Given the description of an element on the screen output the (x, y) to click on. 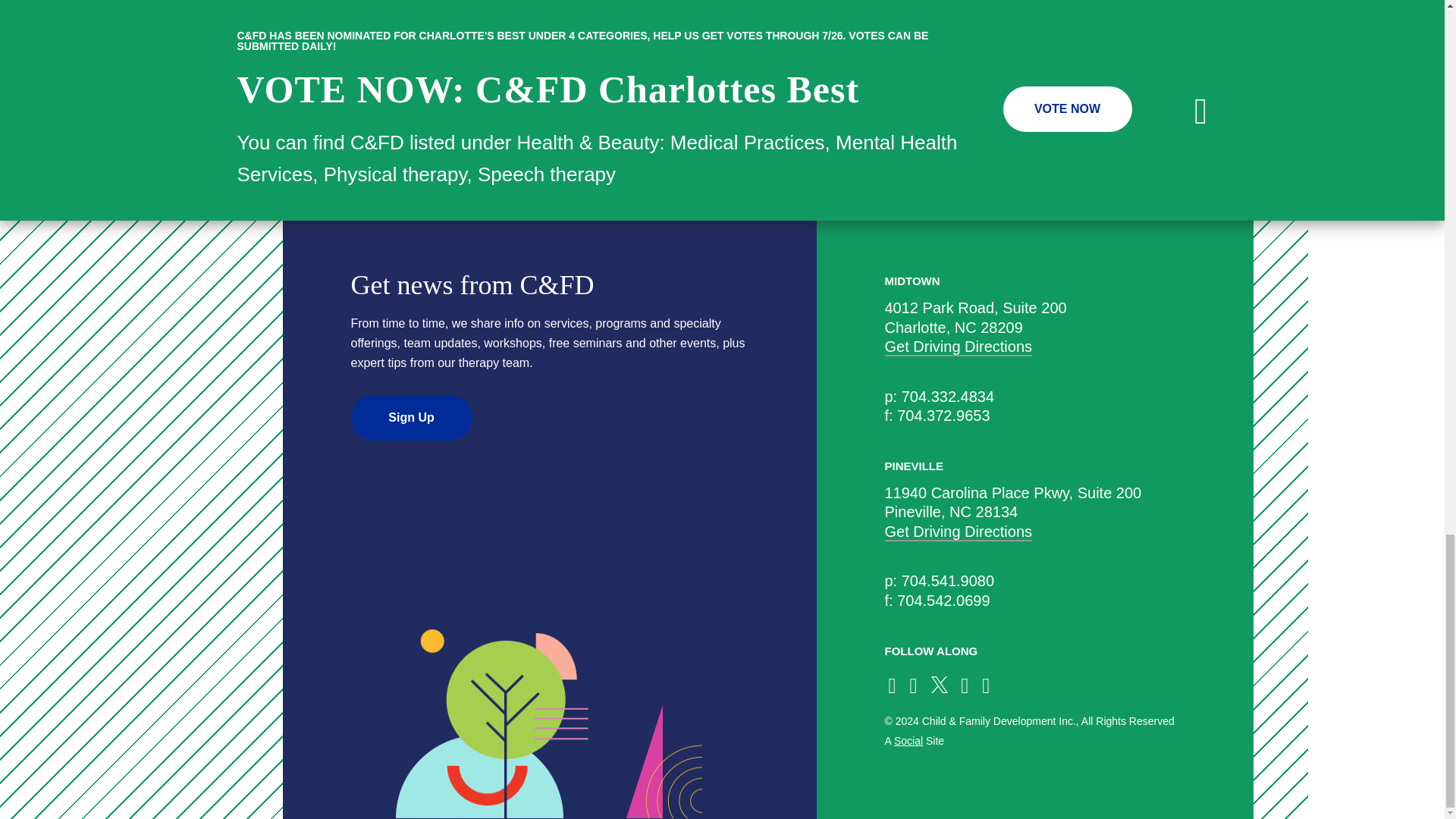
Sign Up (410, 417)
Share on Facebook (662, 8)
Get Driving Directions (957, 347)
p: 704.332.4834 (938, 396)
Get Driving Directions (957, 532)
Send email (780, 8)
f: 704.542.0699 (936, 600)
Tweet (692, 8)
f: 704.372.9653 (936, 415)
Social (908, 740)
p: 704.541.9080 (938, 580)
Share on LinkedIn (750, 8)
